Given the description of an element on the screen output the (x, y) to click on. 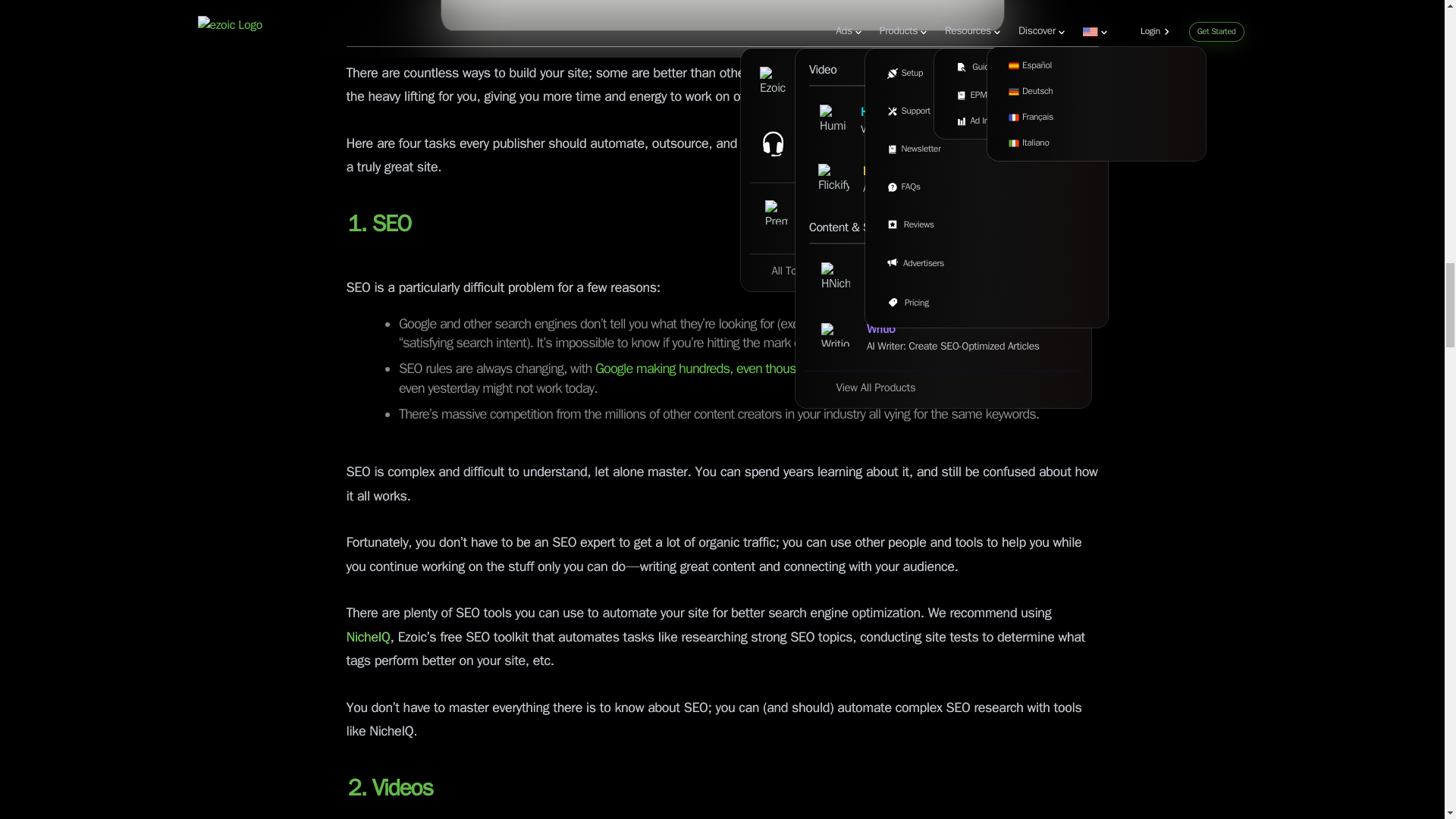
NicheIQ (368, 637)
